Given the description of an element on the screen output the (x, y) to click on. 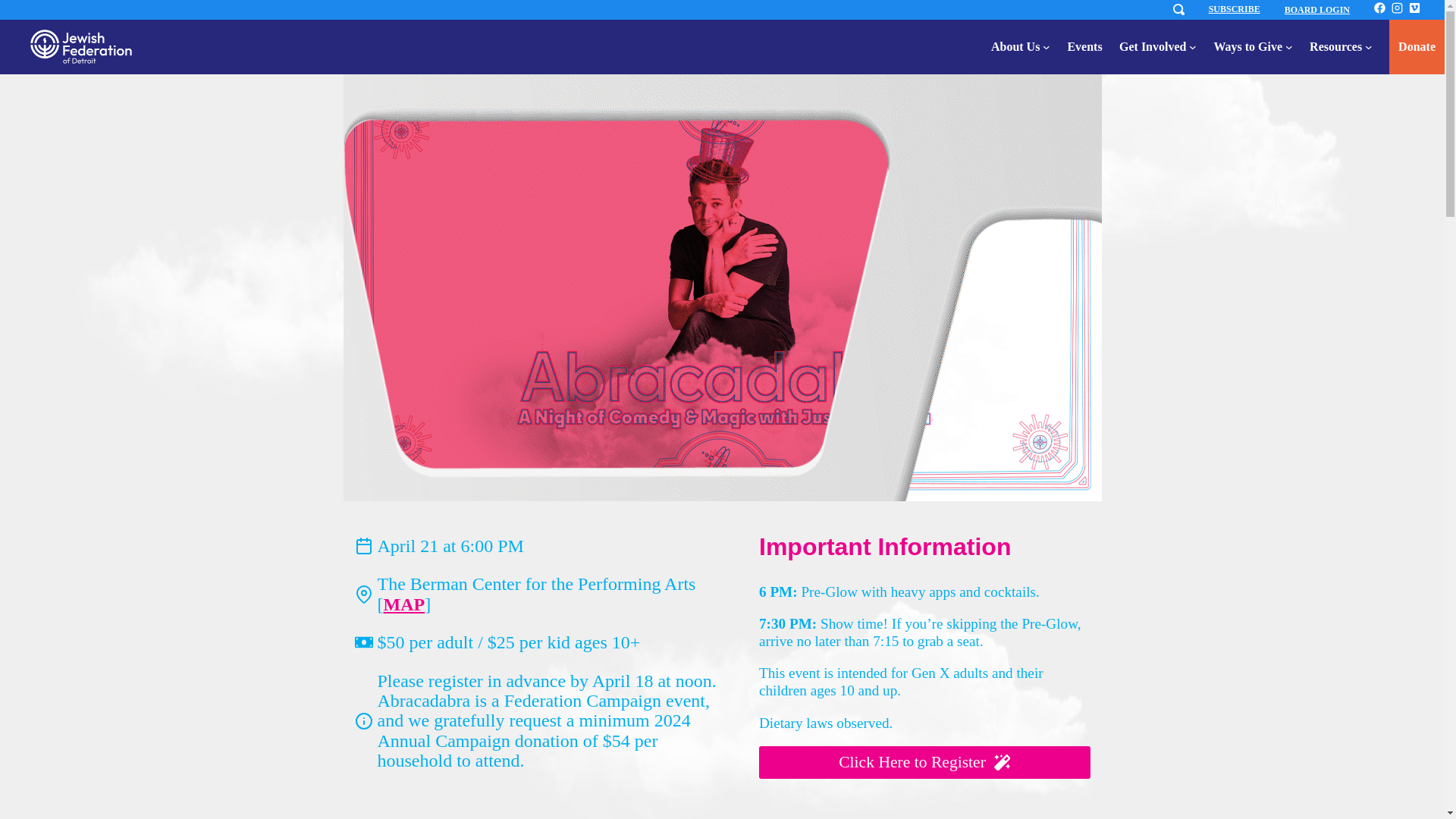
Events (1084, 46)
SUBSCRIBE (1234, 9)
Resources (1334, 46)
Get Involved (1152, 46)
About Us (1015, 46)
BOARD LOGIN (1316, 9)
Ways to Give (1247, 46)
